Given the description of an element on the screen output the (x, y) to click on. 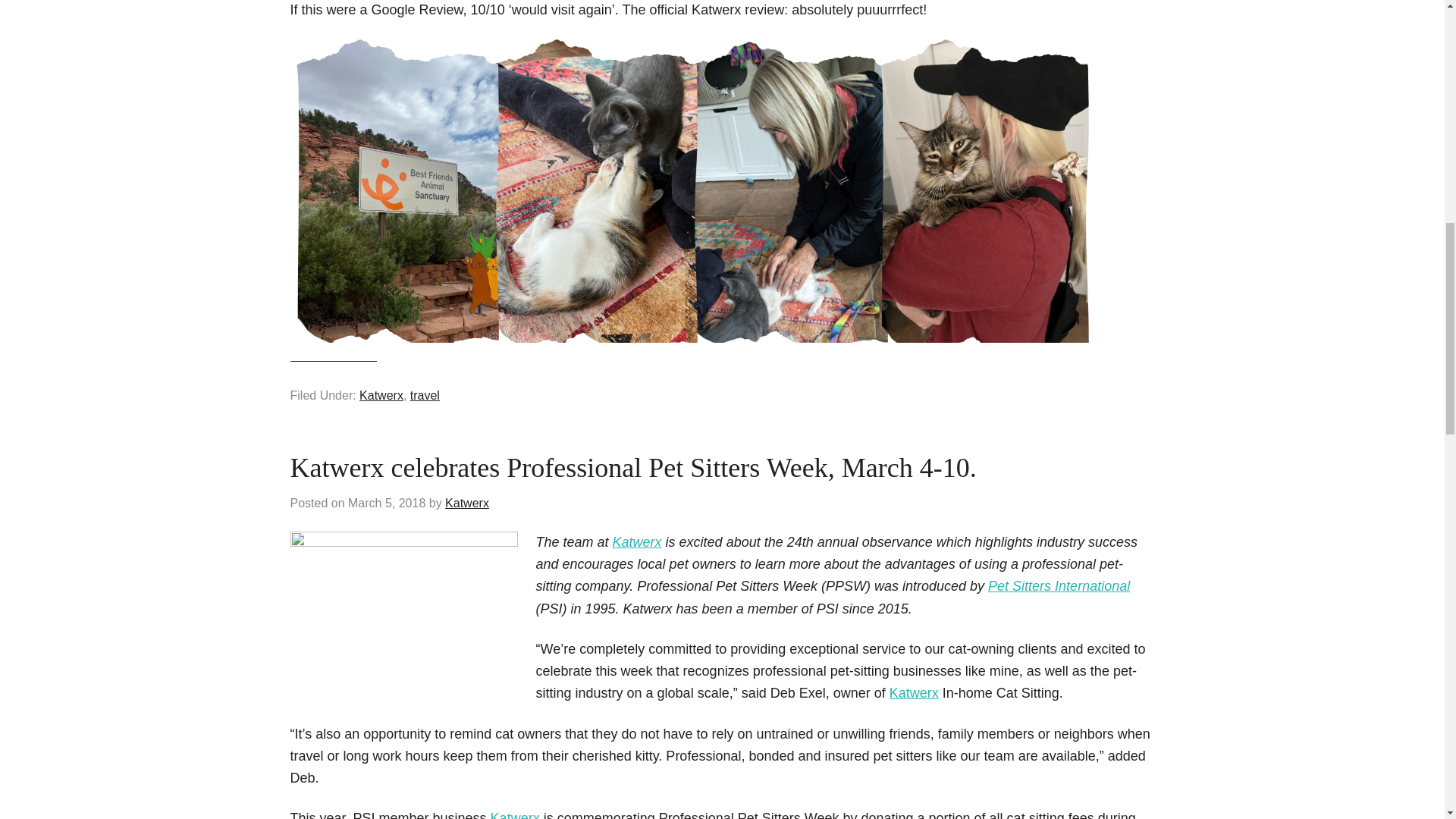
Katwerx (914, 693)
Katwerx (515, 814)
Katwerx (637, 541)
Katwerx (467, 502)
Katwerx (381, 395)
Pet Sitters International (1058, 585)
travel (424, 395)
